Given the description of an element on the screen output the (x, y) to click on. 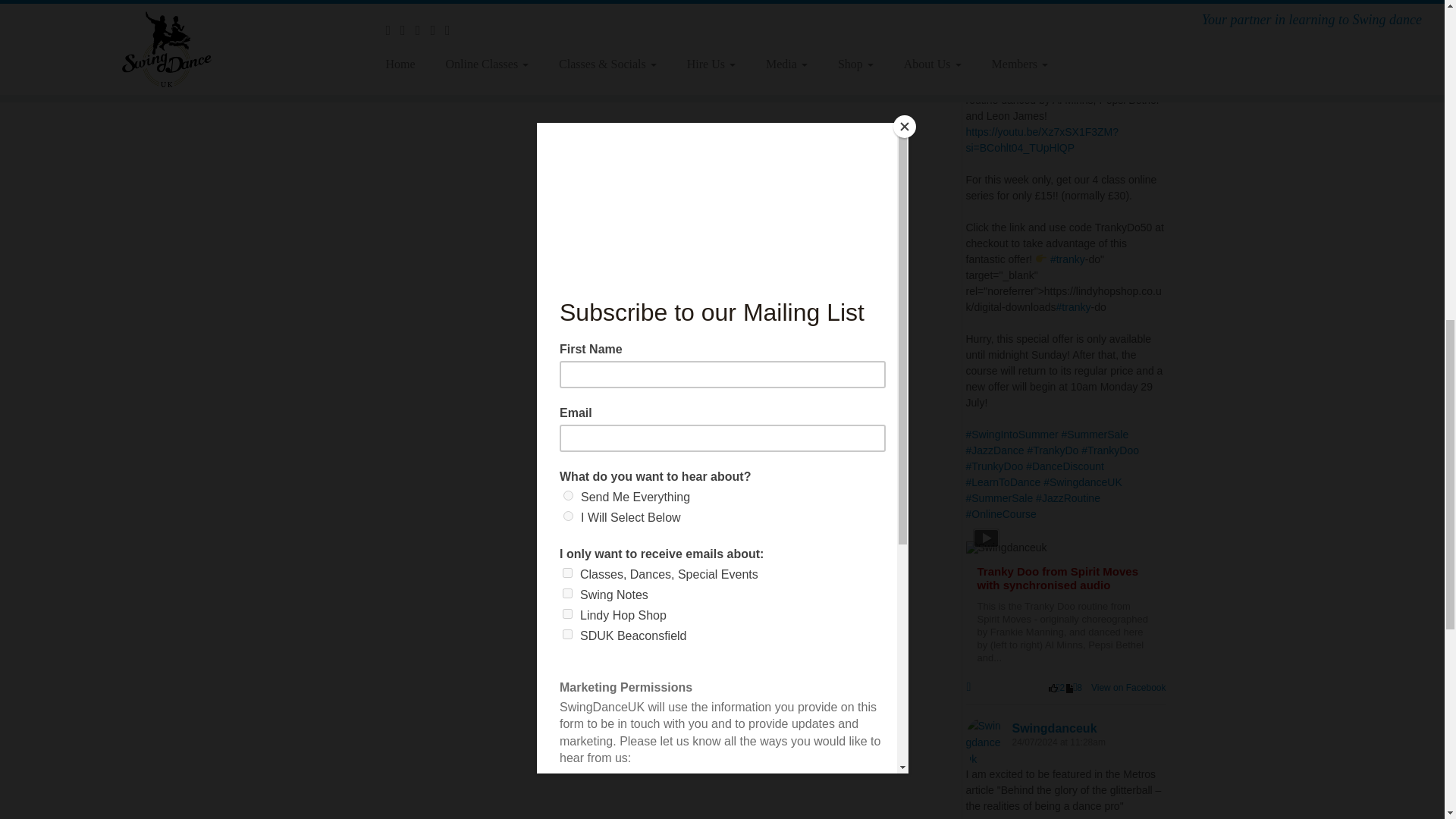
Social Share Options (972, 687)
